Given the description of an element on the screen output the (x, y) to click on. 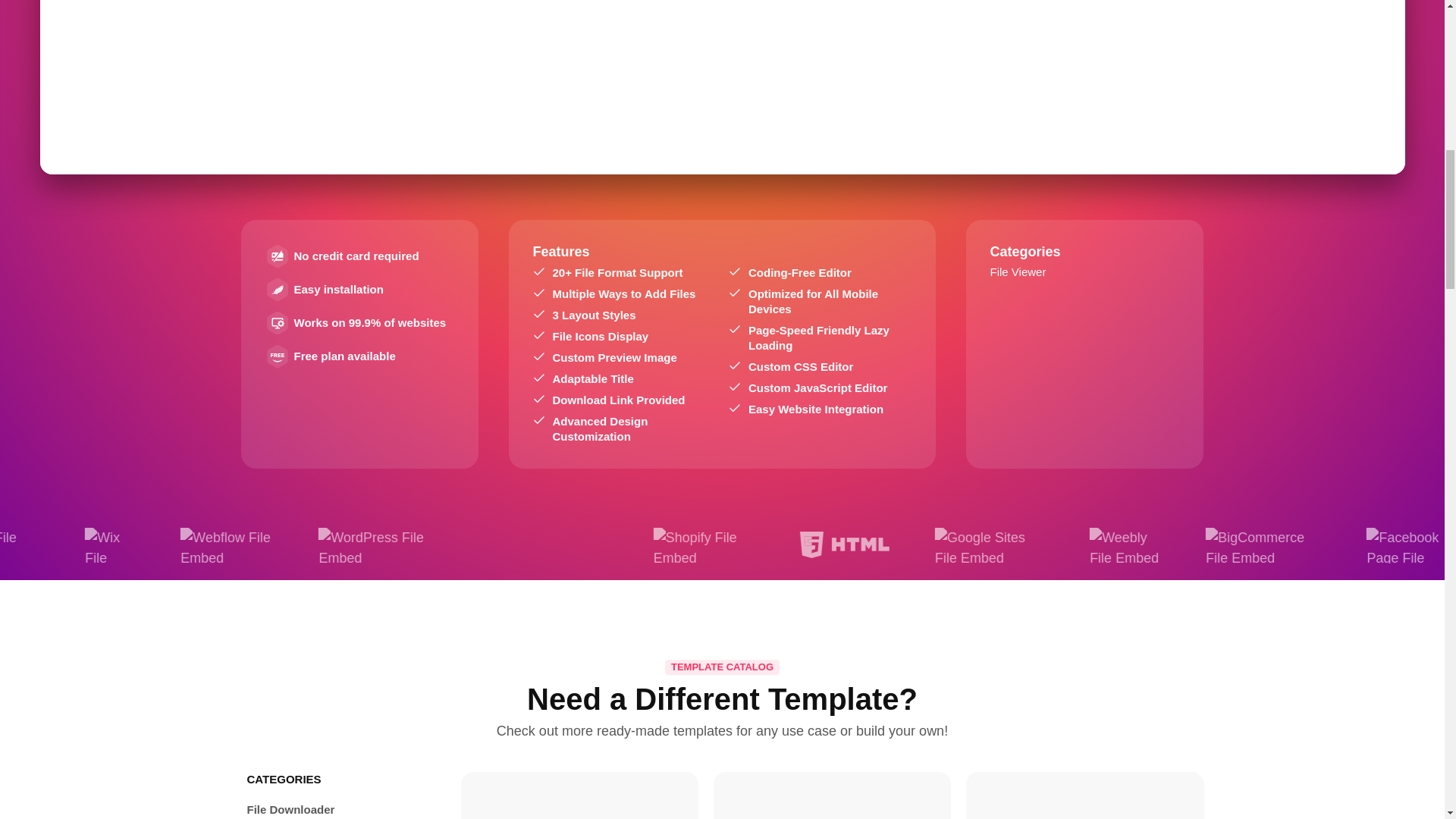
PPTX Viewer (1084, 800)
PPT Viewer (579, 800)
XLSX Viewer (832, 800)
